Given the description of an element on the screen output the (x, y) to click on. 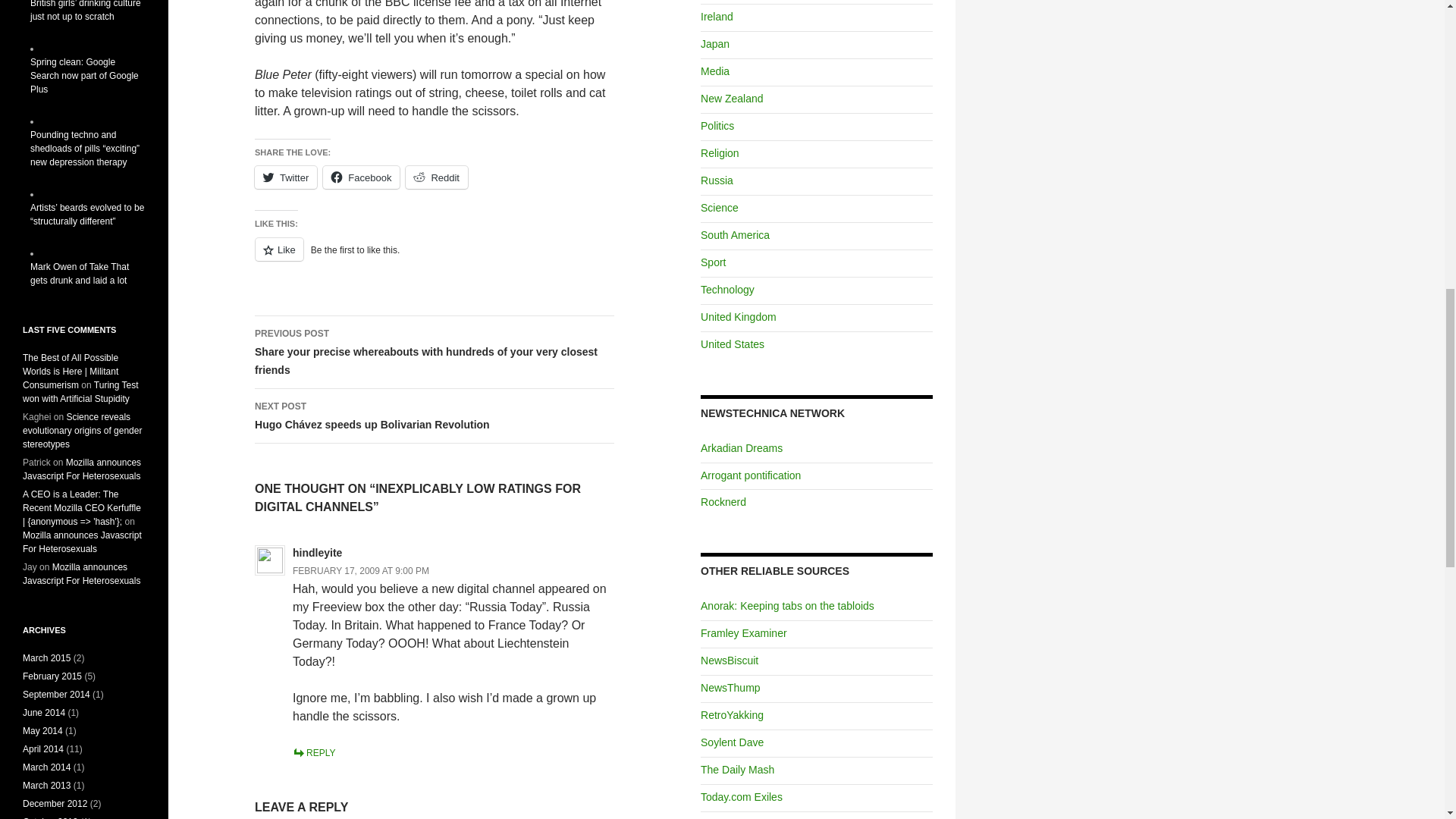
Click to share on Twitter (285, 177)
Twitter (285, 177)
Click to share on Facebook (360, 177)
hindleyite (317, 552)
FEBRUARY 17, 2009 AT 9:00 PM (360, 570)
Like or Reblog (434, 258)
Facebook (360, 177)
Tabloid news for broadsheet readers (787, 605)
NewsThump (730, 687)
REPLY (313, 752)
Reddit (436, 177)
Unimaginative Pseudonym (731, 742)
Northern humour with Harry Yack (731, 715)
The news before it happens (729, 660)
